Given the description of an element on the screen output the (x, y) to click on. 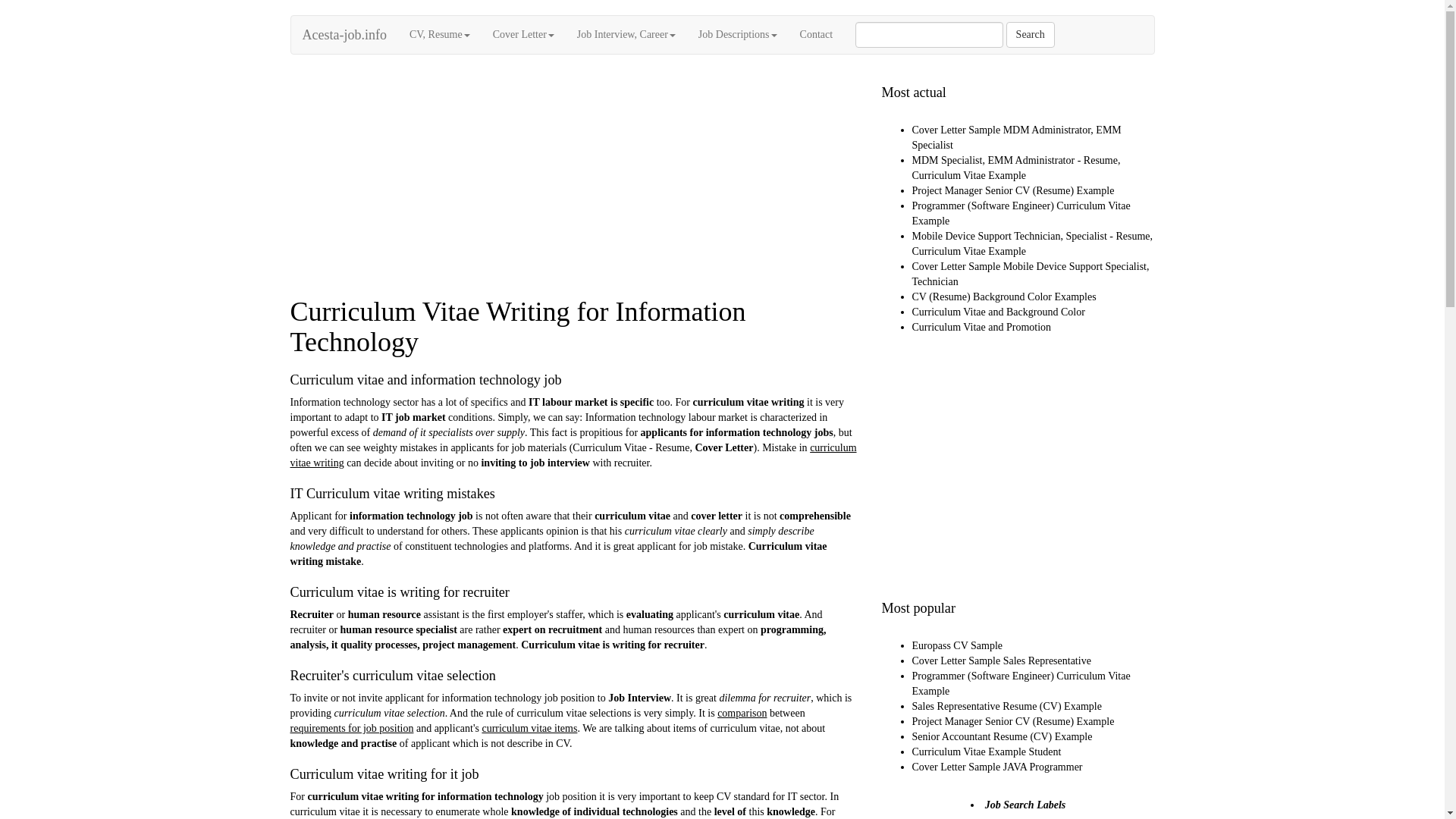
Cover Letter (723, 447)
Curriculum Vitae - Resume (630, 447)
Contact (816, 34)
Acesta-job.info Articles (626, 34)
Cover Letter (523, 34)
Search (1030, 34)
Job Descriptions (738, 34)
Job Interview (639, 697)
Cover Letter Articles (523, 34)
Job Search Information Server (344, 34)
